Given the description of an element on the screen output the (x, y) to click on. 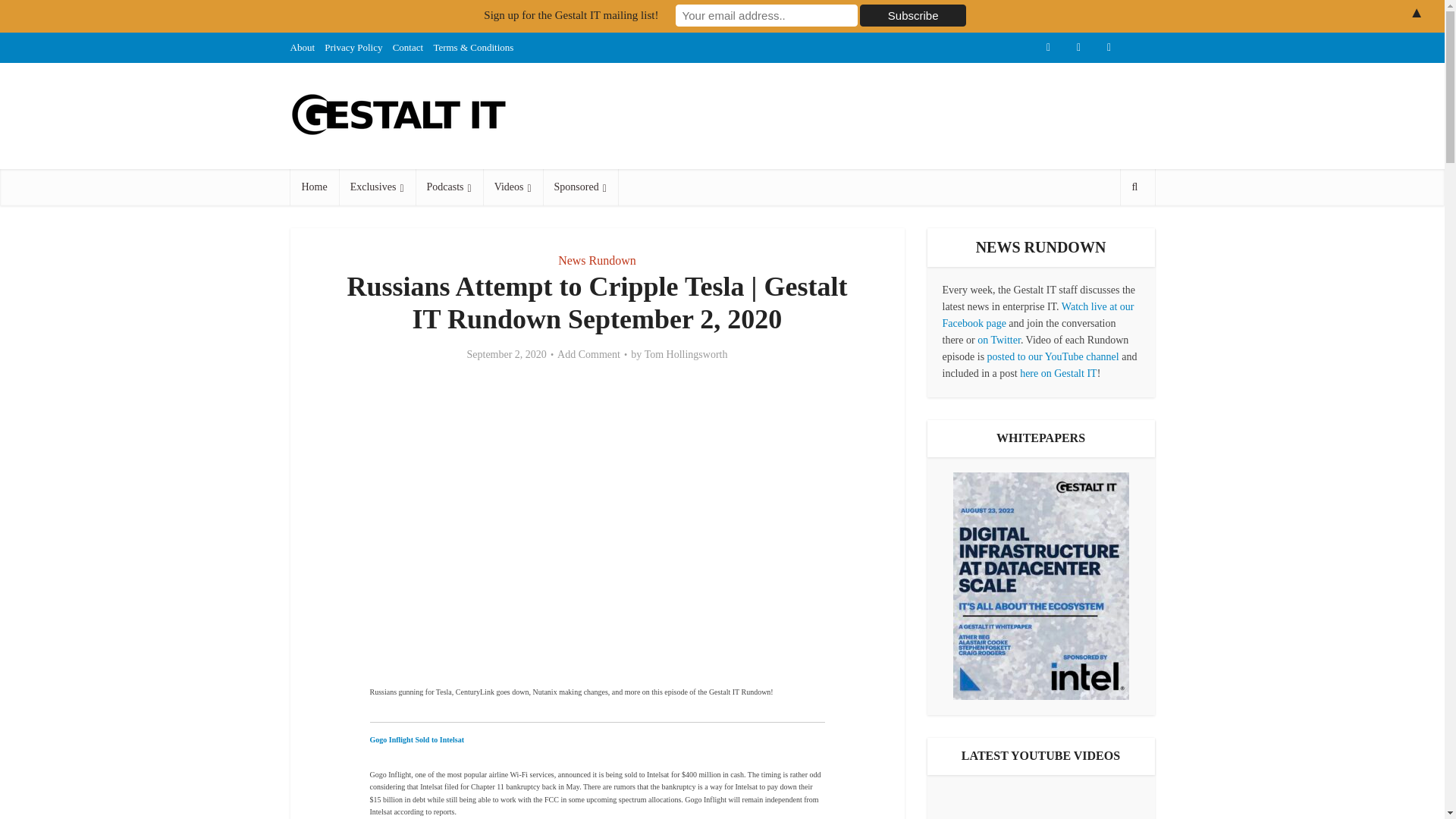
About (301, 47)
Subscribe (913, 15)
Podcasts (448, 186)
Videos (513, 186)
Privacy Policy (352, 47)
Sponsored (580, 186)
Exclusives (376, 186)
Home (313, 186)
Contact (408, 47)
